Given the description of an element on the screen output the (x, y) to click on. 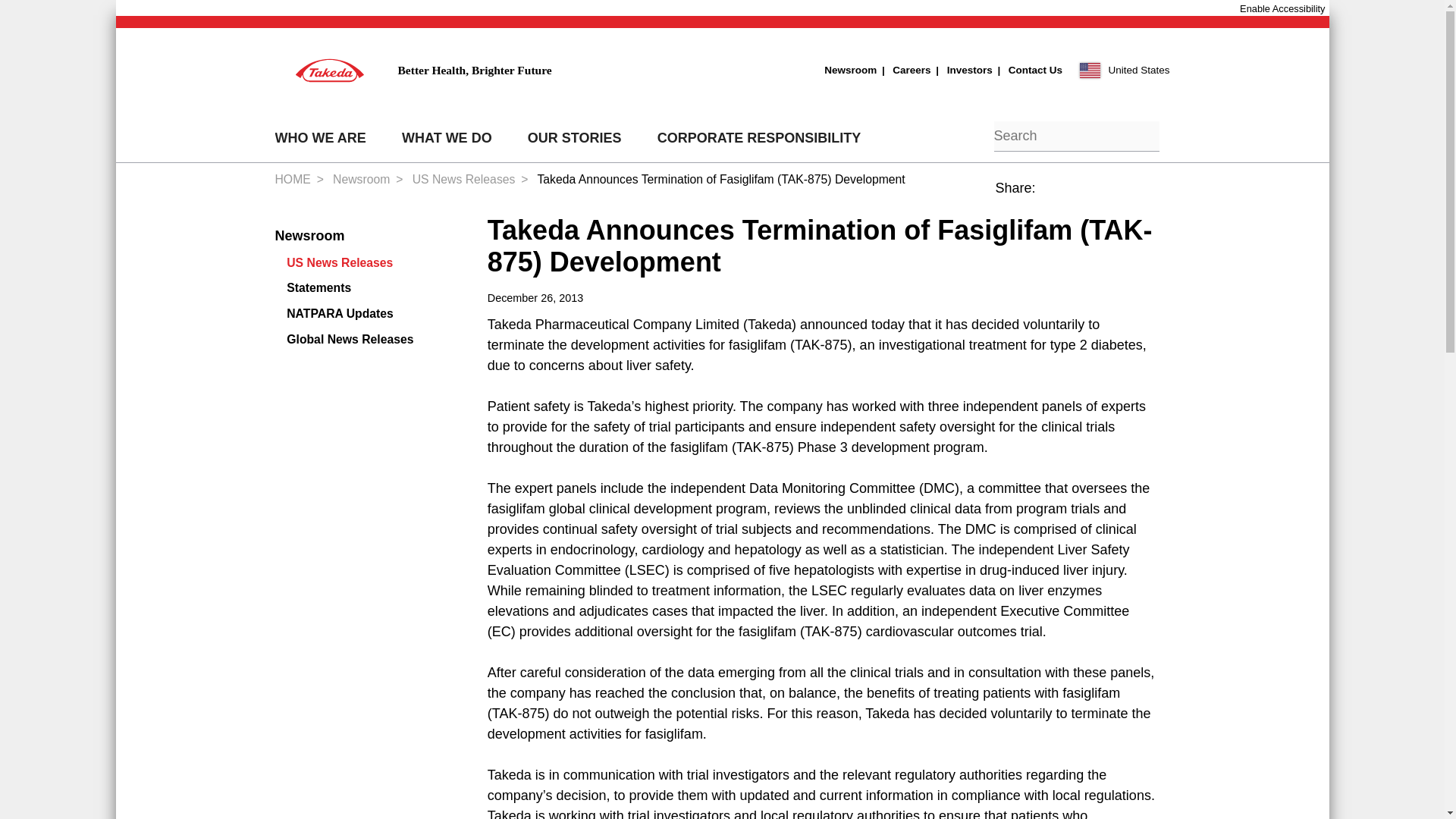
Search (973, 137)
Investors (961, 70)
United States (1125, 70)
Better Health, Brighter Future (413, 70)
Contact Us (1027, 70)
Careers (903, 70)
linkedin (1085, 195)
email (1154, 195)
Newsroom (850, 70)
facebook (1050, 195)
twitter (1119, 195)
